Given the description of an element on the screen output the (x, y) to click on. 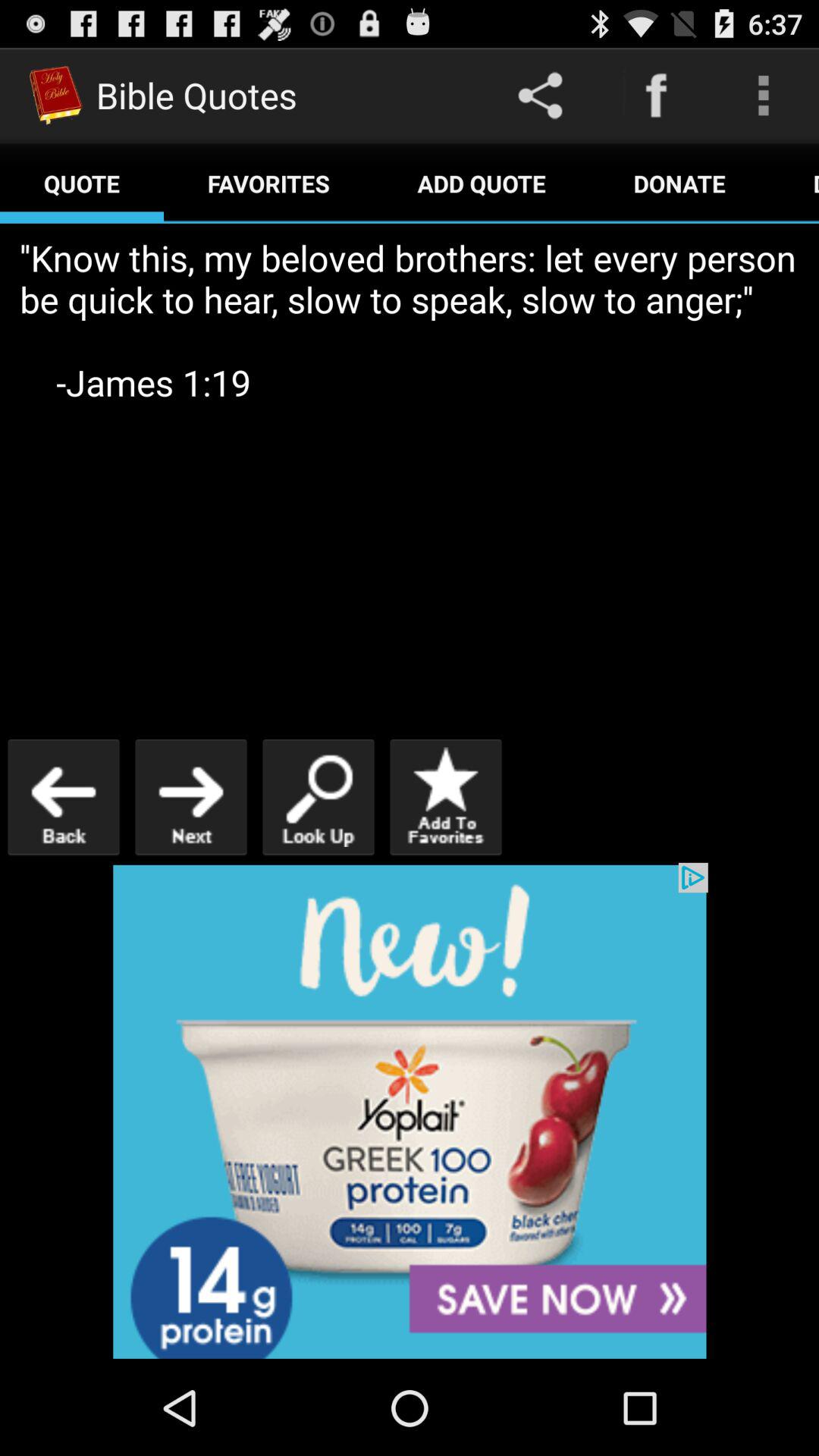
go to next page (190, 796)
